Given the description of an element on the screen output the (x, y) to click on. 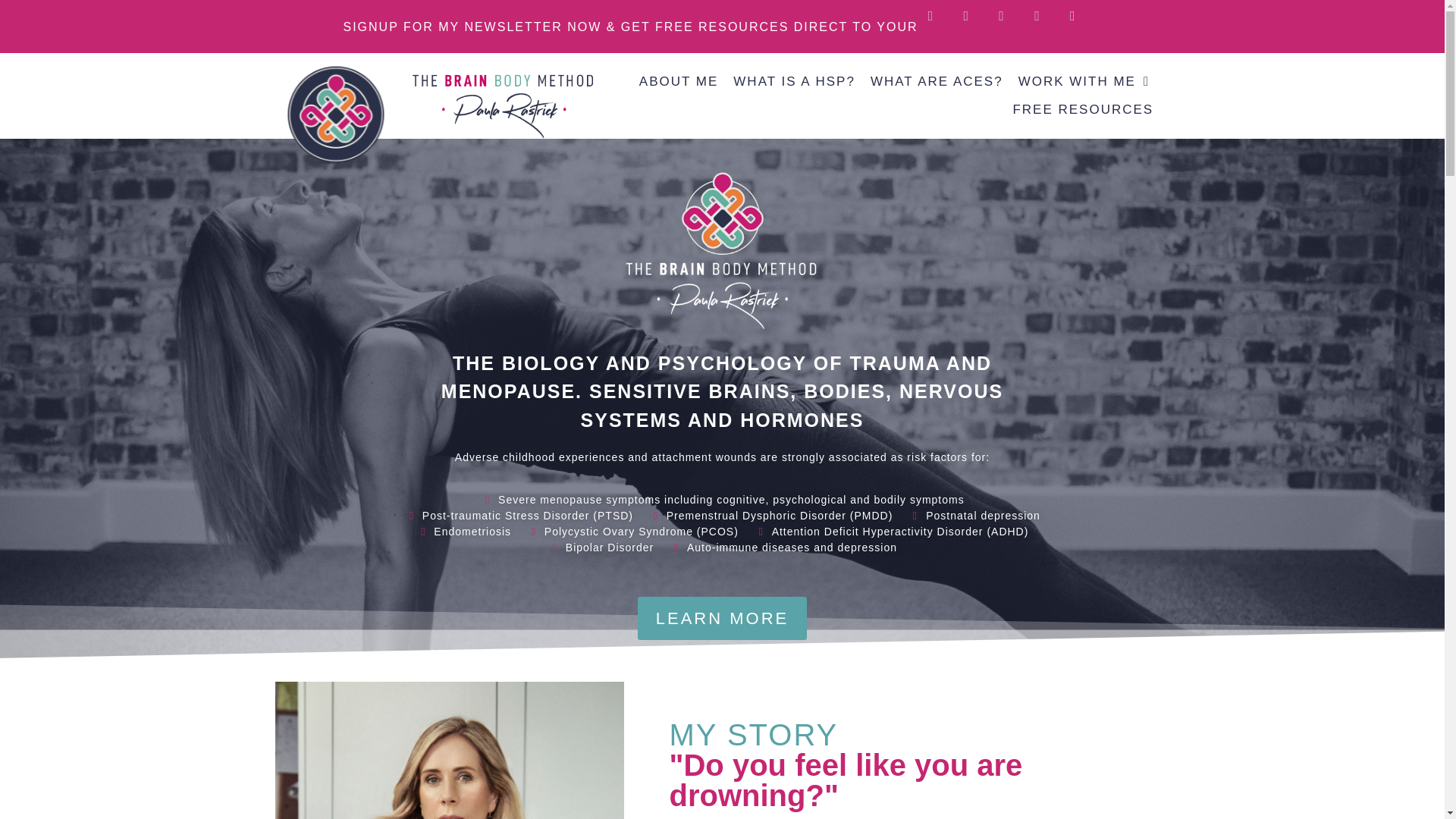
WHAT ARE ACES? (936, 81)
LEARN MORE (721, 618)
WHAT IS A HSP? (794, 81)
FREE RESOURCES (1083, 109)
Postnatal depression (974, 515)
ABOUT ME (678, 81)
WORK WITH ME (1083, 81)
